Given the description of an element on the screen output the (x, y) to click on. 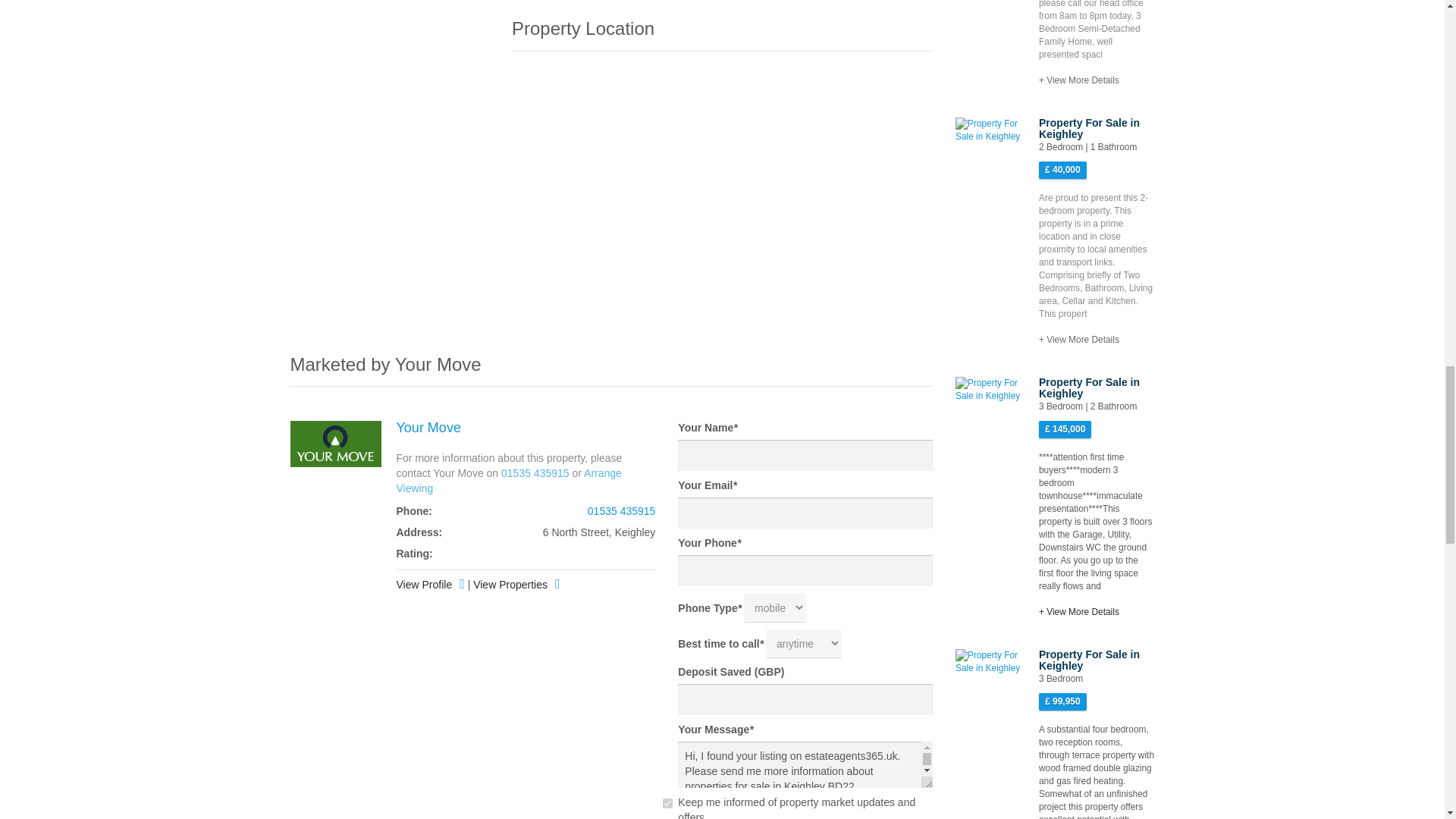
01535 435915 (622, 510)
on (667, 803)
01535 435915 (534, 472)
View Profile (430, 585)
View Properties (516, 585)
Your Move (428, 427)
Arrange Viewing (508, 480)
